Given the description of an element on the screen output the (x, y) to click on. 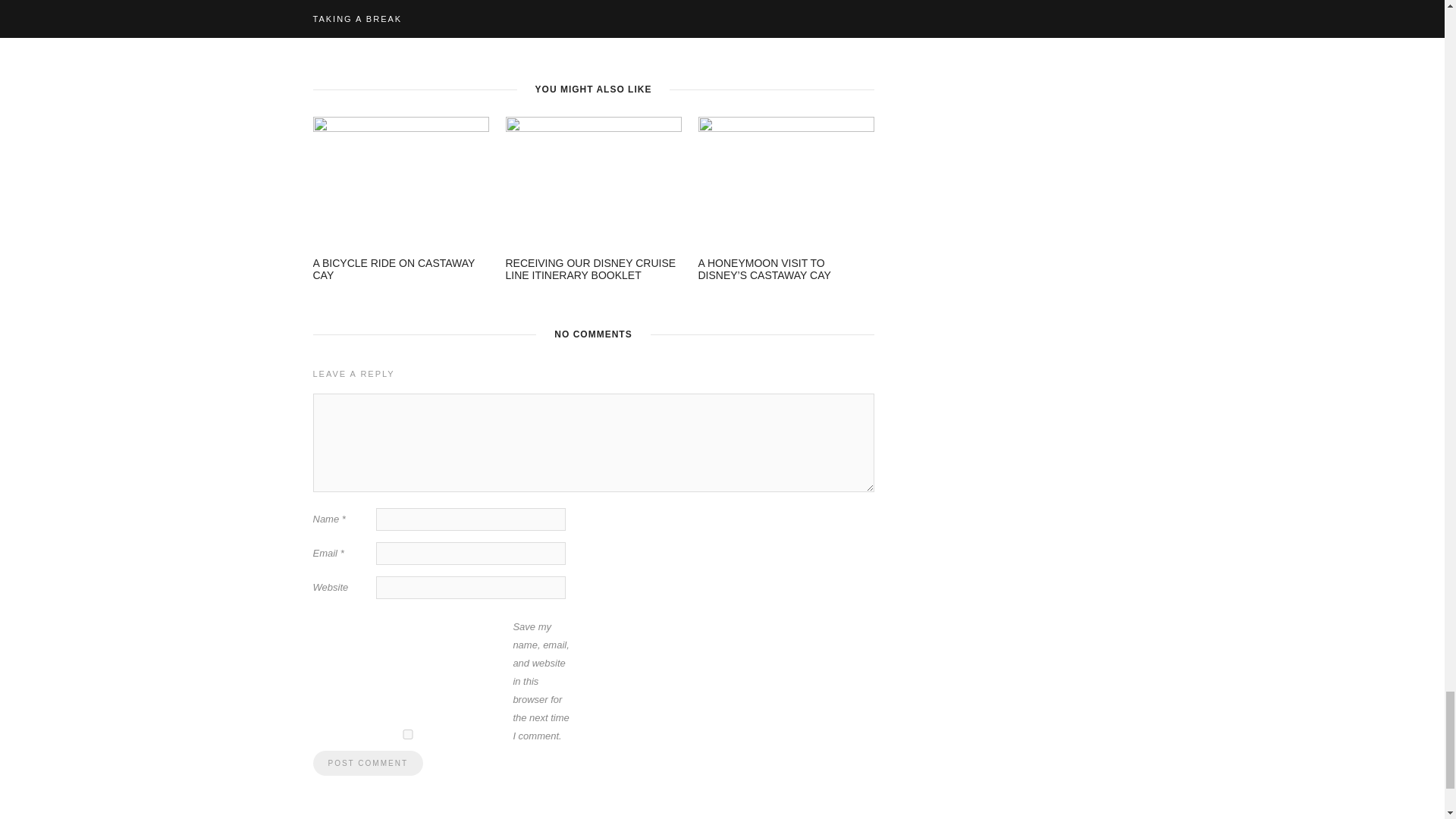
A BICYCLE RIDE ON CASTAWAY CAY (393, 269)
Post Comment (367, 763)
Post Comment (367, 763)
yes (407, 734)
RECEIVING OUR DISNEY CRUISE LINE ITINERARY BOOKLET (590, 269)
